Given the description of an element on the screen output the (x, y) to click on. 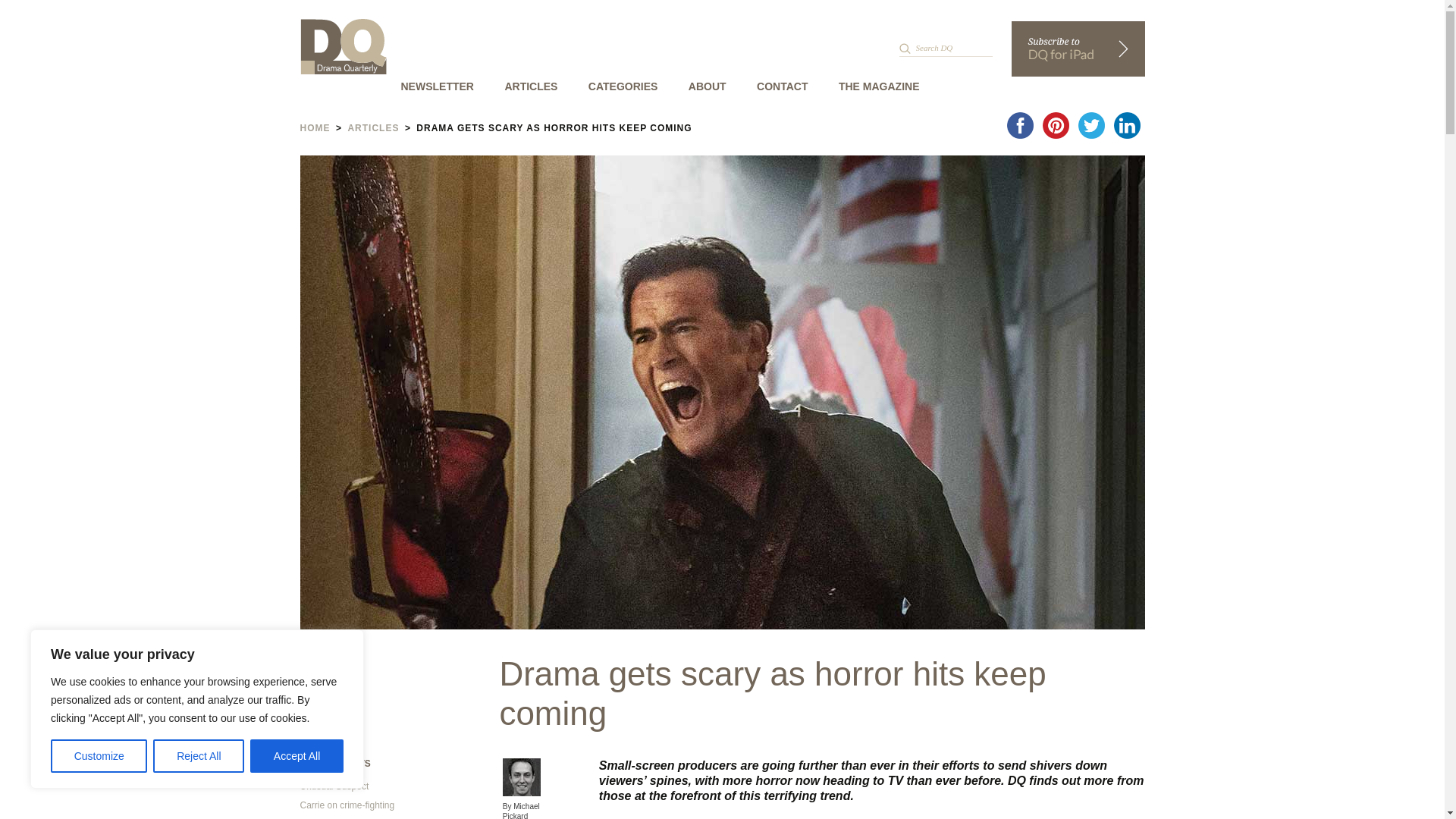
ARTICLES (530, 85)
Subscribe to DQ for iPad (1077, 48)
Reject All (198, 756)
linkedin (1126, 125)
Customize (98, 756)
Search for: (945, 47)
Drama Quarterly (343, 45)
facebook (1020, 125)
CATEGORIES (622, 85)
twitter (1091, 125)
Accept All (296, 756)
DQ100 (648, 108)
Search (37, 15)
NEWSLETTER (436, 85)
pinterest (1054, 125)
